Given the description of an element on the screen output the (x, y) to click on. 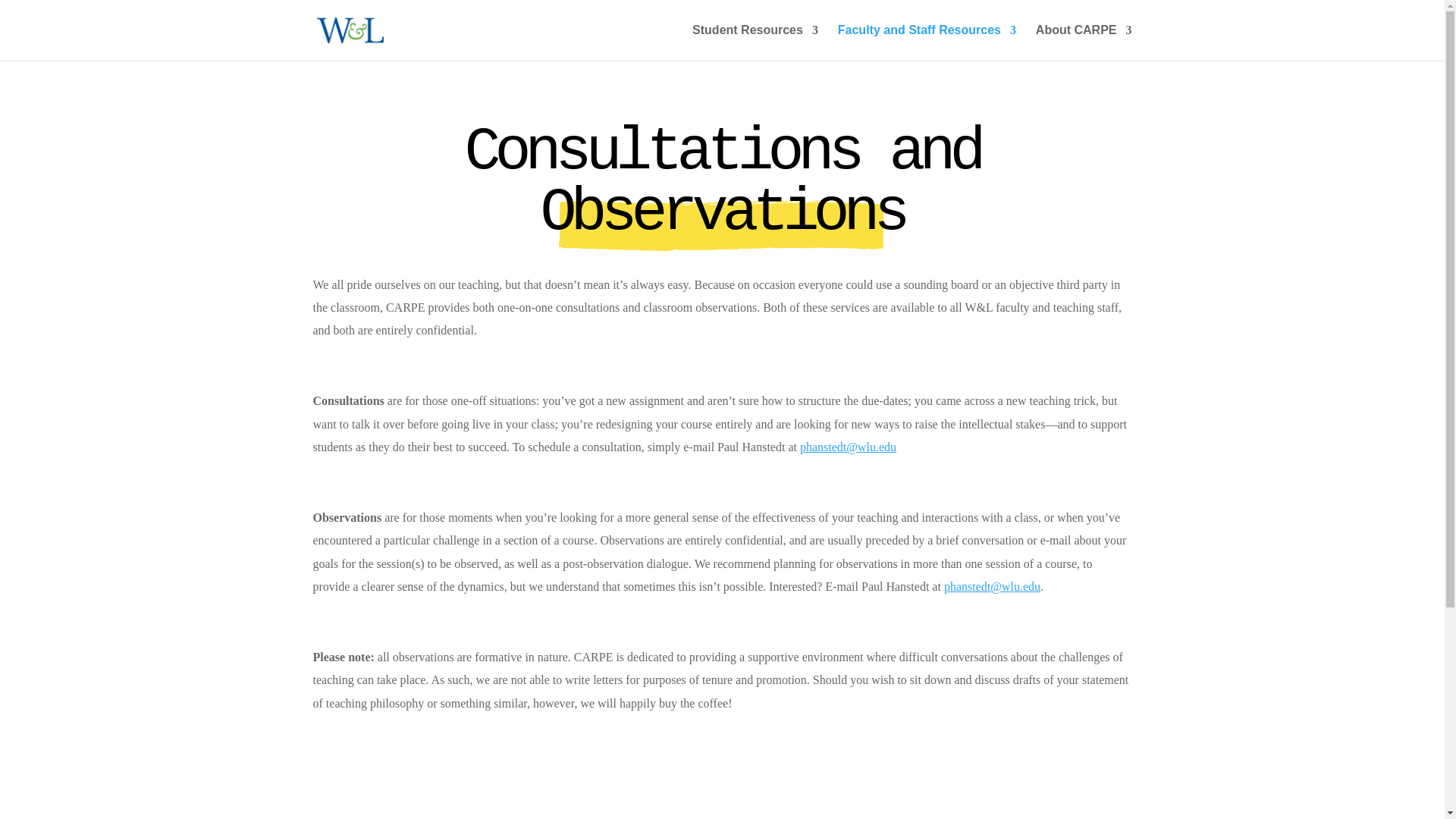
About CARPE (1083, 42)
Faculty and Staff Resources (927, 42)
Student Resources (755, 42)
